Given the description of an element on the screen output the (x, y) to click on. 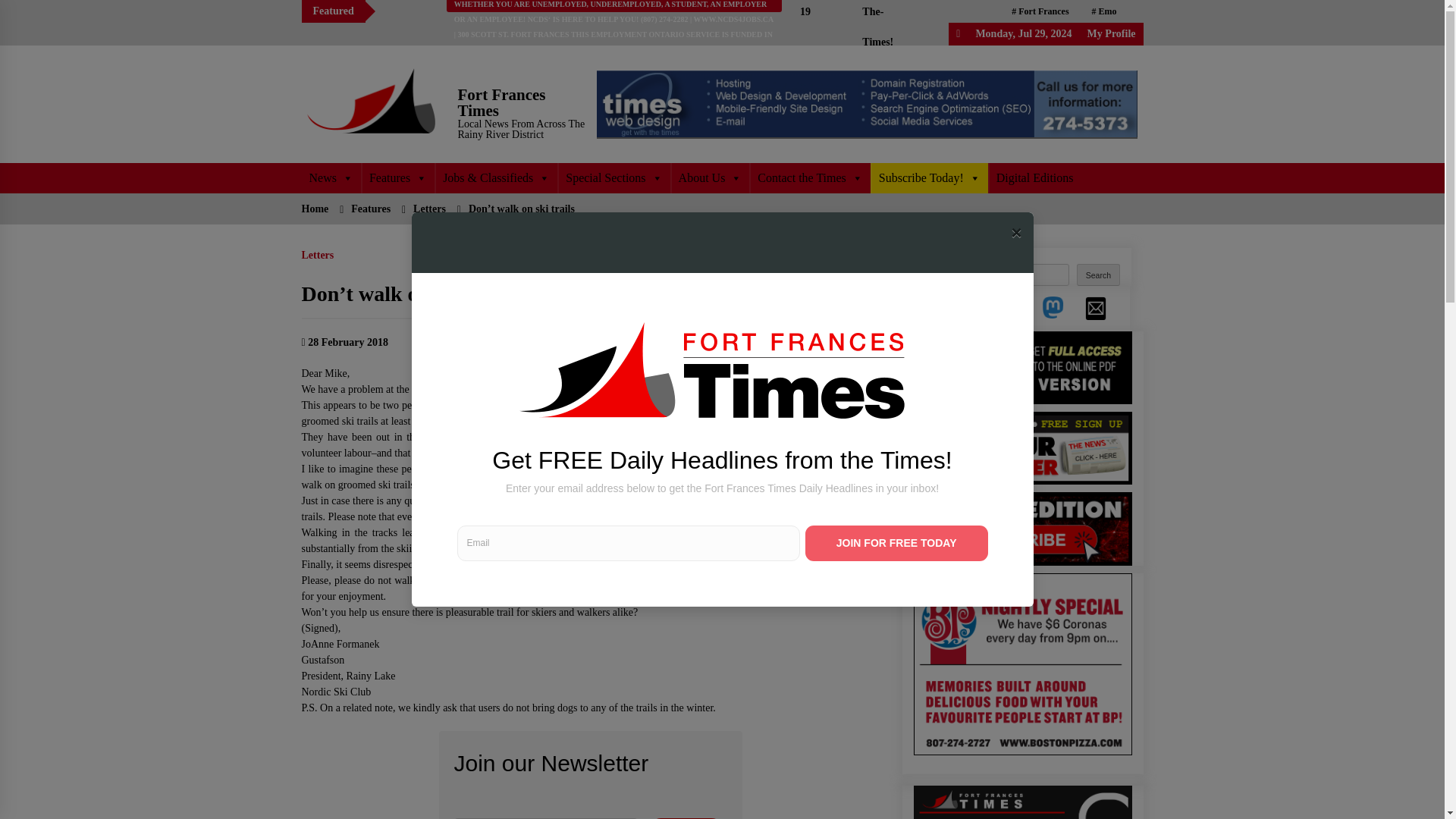
Features (397, 177)
Dryden (1090, 33)
Fort Frances Times (502, 102)
My Profile (1111, 33)
News (331, 177)
Emo (1104, 11)
Ontario (1030, 33)
Fort Frances (1040, 11)
